Given the description of an element on the screen output the (x, y) to click on. 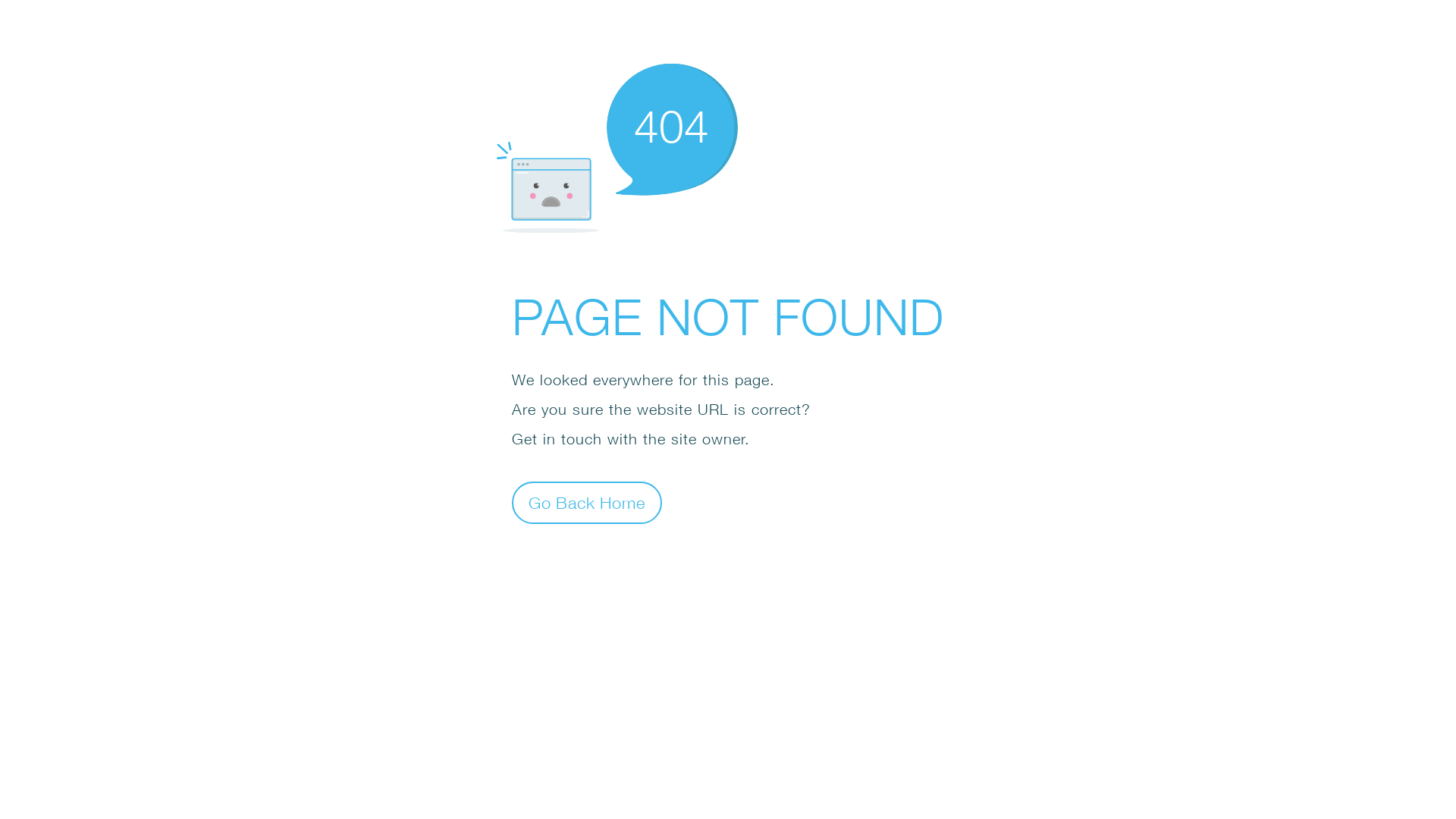
Go Back Home Element type: text (586, 502)
